Given the description of an element on the screen output the (x, y) to click on. 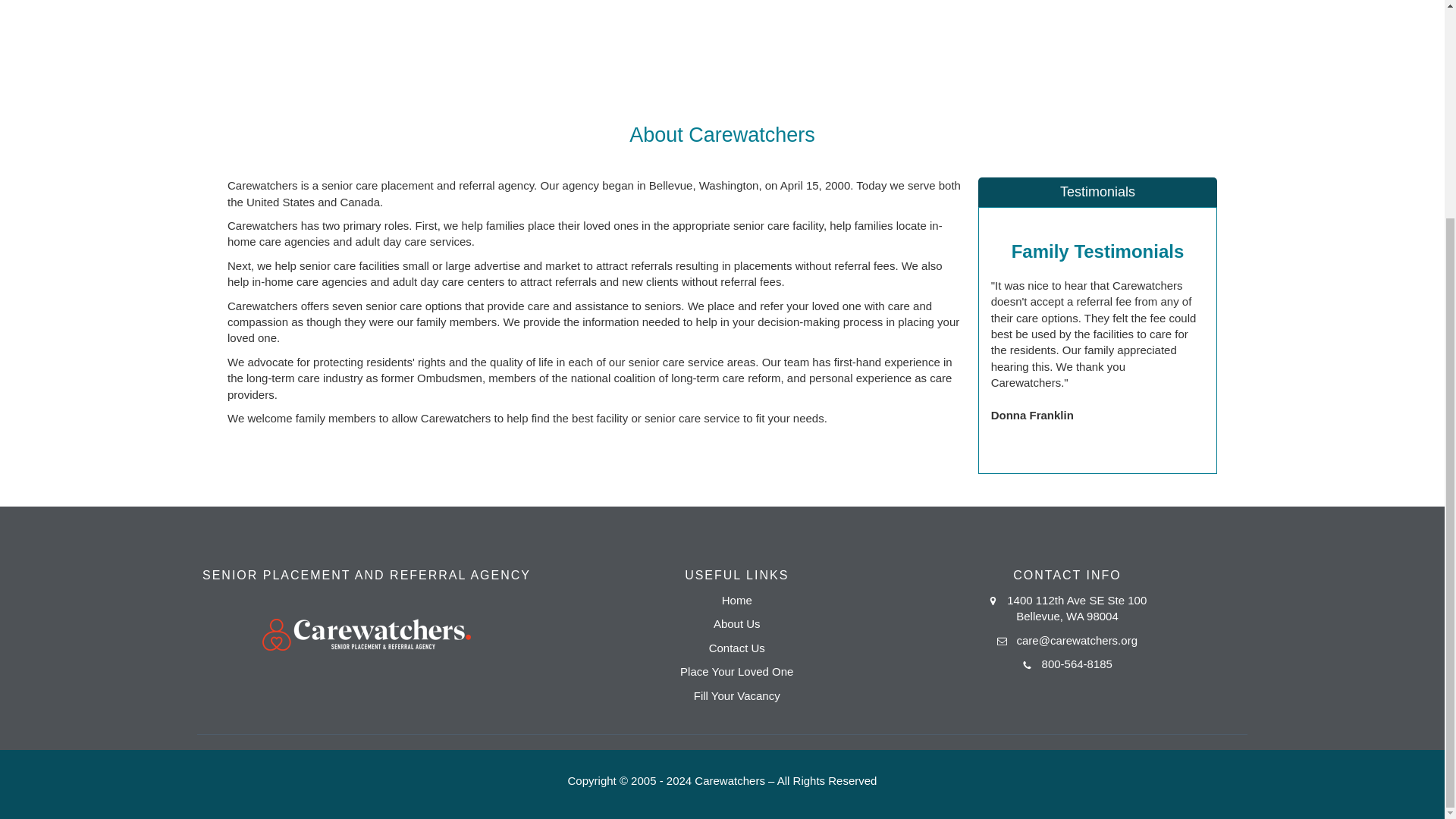
Home (737, 599)
About Us (736, 623)
Place Your Loved One (736, 671)
Fill Your Vacancy (737, 695)
800-564-8185 (1077, 663)
SENIOR PLACEMENT AND REFERRAL AGENCY (365, 616)
Contact Us (737, 647)
